Given the description of an element on the screen output the (x, y) to click on. 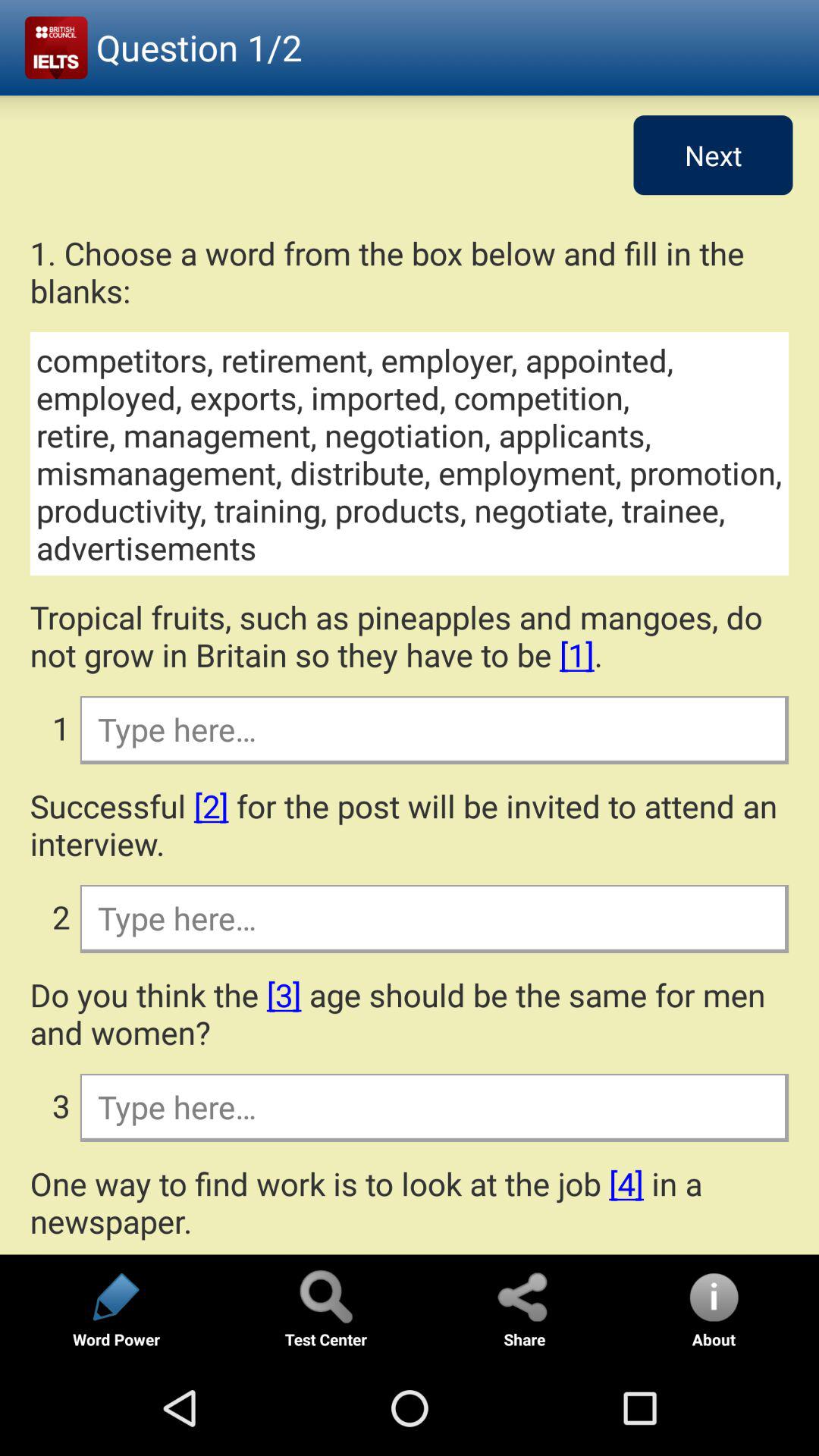
launch item above 2 (409, 824)
